Given the description of an element on the screen output the (x, y) to click on. 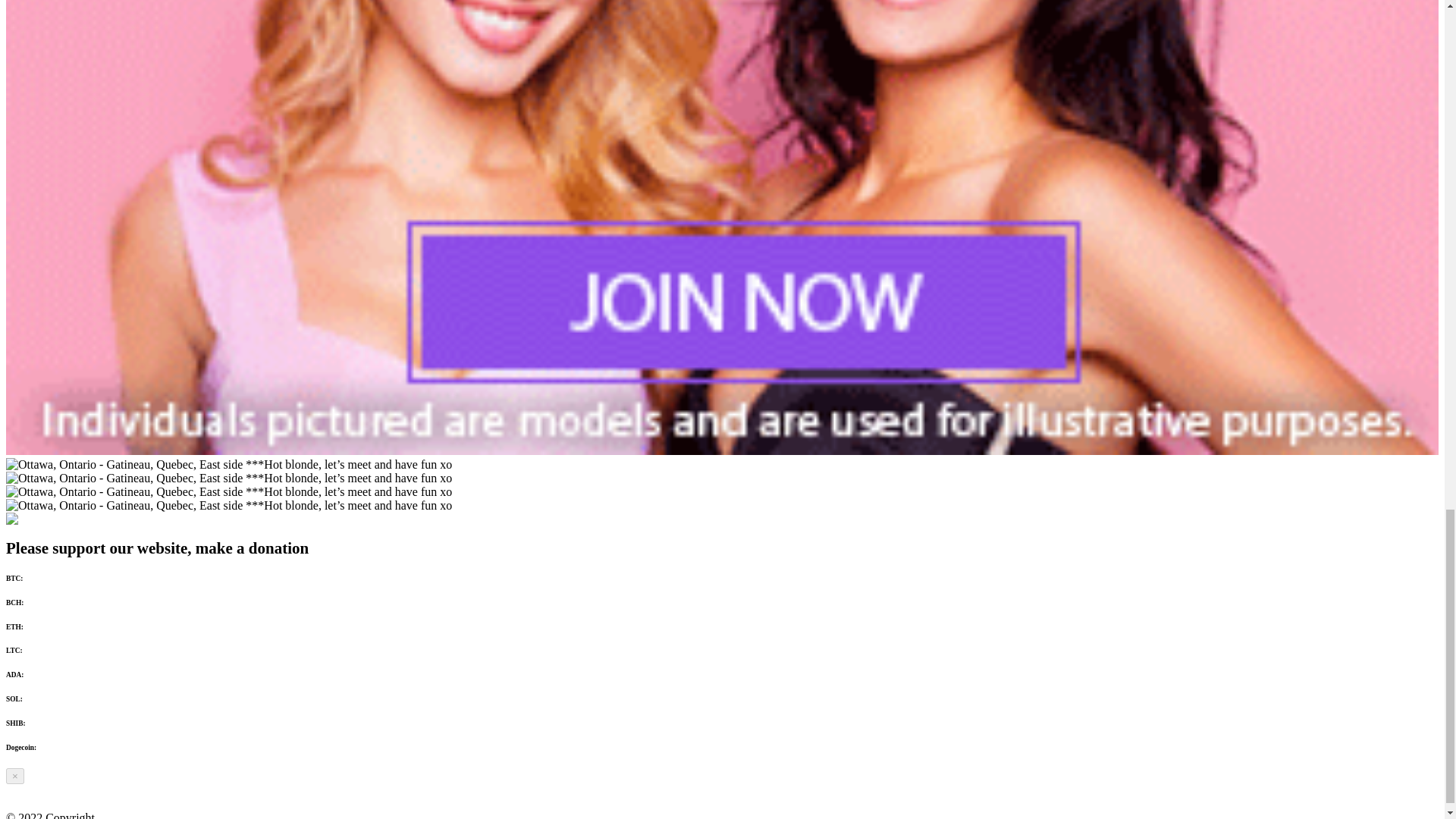
copy address (44, 626)
copy address (44, 578)
copy address (45, 674)
copy address (46, 723)
copy address (45, 602)
Click here for more! (27, 518)
copy address (44, 698)
copy address (57, 747)
copy address (44, 650)
